Given the description of an element on the screen output the (x, y) to click on. 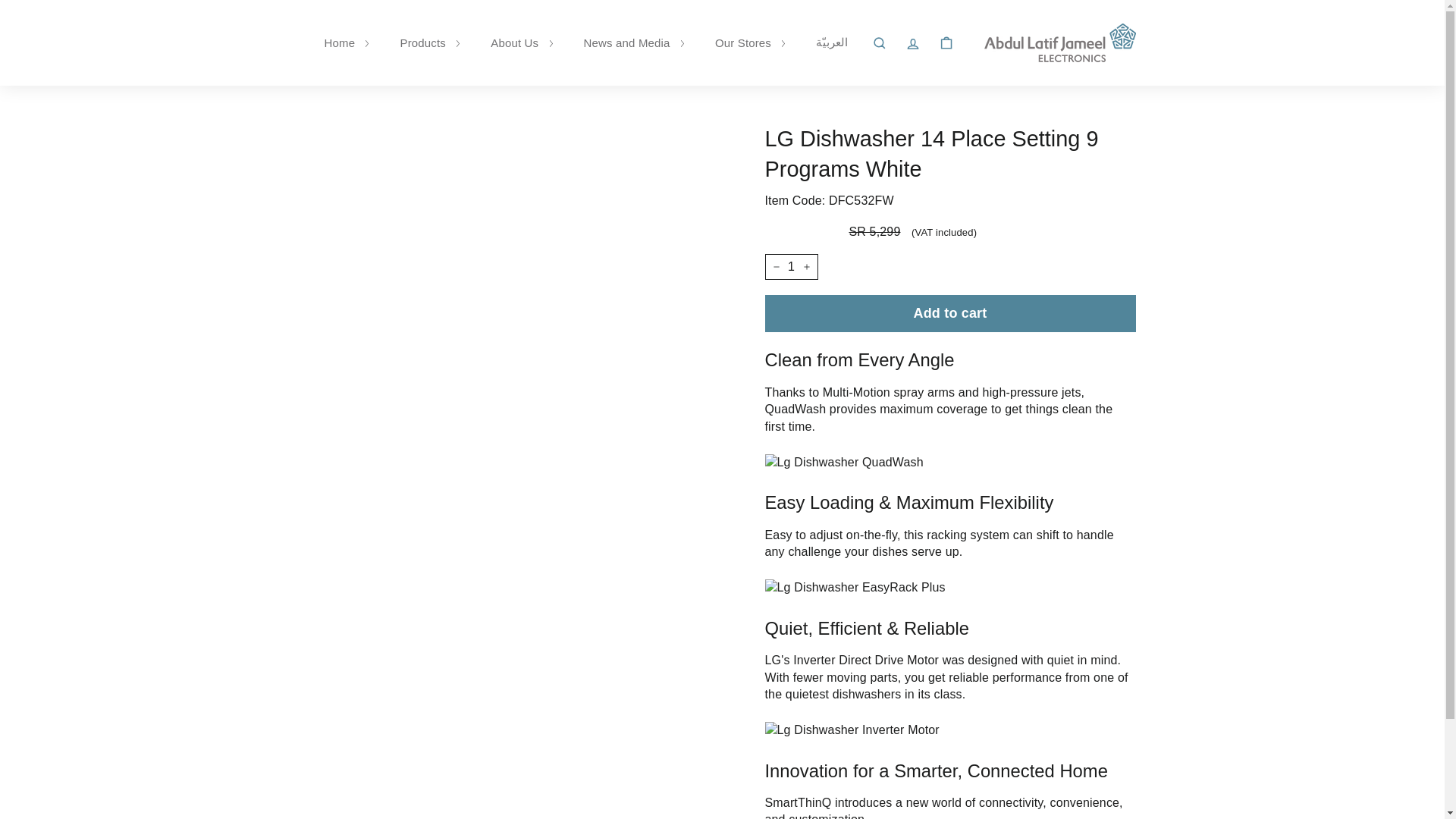
Home (346, 42)
News and Media (634, 42)
Our Stores (750, 42)
About Us (521, 42)
1 (790, 266)
Products (430, 42)
